Given the description of an element on the screen output the (x, y) to click on. 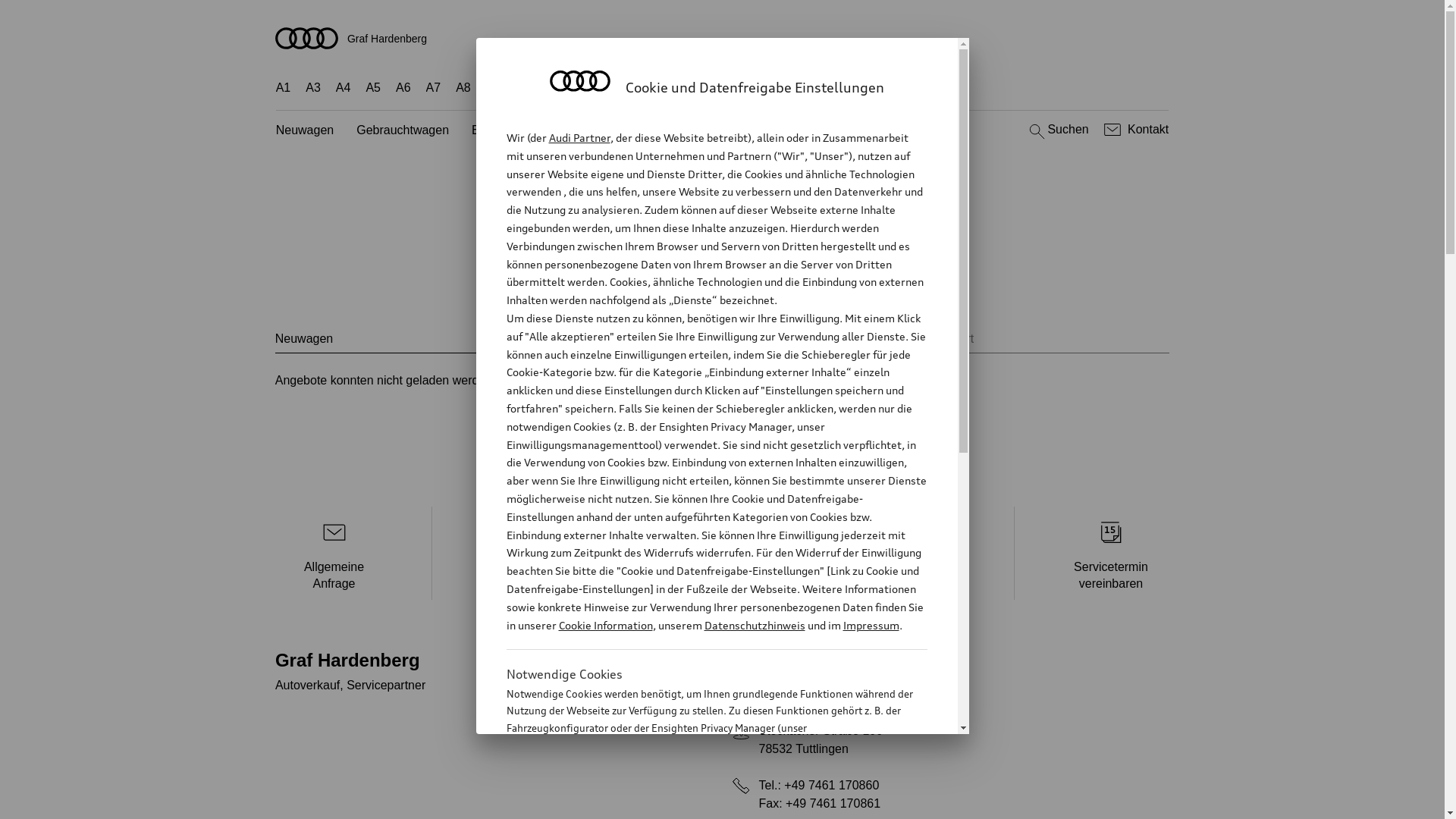
Cookie Information Element type: text (700, 802)
TT Element type: text (782, 87)
Neuwagen Element type: text (305, 130)
RS Element type: text (828, 87)
A3 Element type: text (312, 87)
Suchen Element type: text (1056, 129)
Graf Hardenberg Element type: text (722, 38)
Kontakt Element type: text (1134, 129)
A1 Element type: text (283, 87)
Serviceberater
kontaktieren Element type: text (917, 552)
Impressum Element type: text (871, 624)
Probefahrt
vereinbaren Element type: text (528, 552)
A5 Element type: text (372, 87)
Fahrzeuge Element type: text (703, 284)
Q8 Element type: text (685, 87)
Angebote Element type: text (603, 130)
Kundenservice Element type: text (692, 130)
Gebrauchtwagen Element type: text (402, 130)
+49 7461 170860 Element type: text (831, 785)
A4 Element type: text (343, 87)
Q2 Element type: text (494, 87)
Q7 Element type: text (654, 87)
Cookie Information Element type: text (605, 624)
A8 Element type: text (462, 87)
g-tron Element type: text (868, 87)
Q8 e-tron Element type: text (734, 87)
Q5 Element type: text (622, 87)
e-tron GT Element type: text (924, 87)
Verkaufsberater
kontaktieren Element type: text (722, 552)
Audi Partner Element type: text (579, 137)
A6 Element type: text (403, 87)
Allgemeine
Anfrage Element type: text (333, 552)
Alle Angebote Element type: text (608, 284)
Q4 e-tron Element type: text (573, 87)
A7 Element type: text (433, 87)
Servicetermin
vereinbaren Element type: text (1111, 552)
Q3 Element type: text (525, 87)
Datenschutzhinweis Element type: text (753, 624)
Service Element type: text (851, 284)
